Given the description of an element on the screen output the (x, y) to click on. 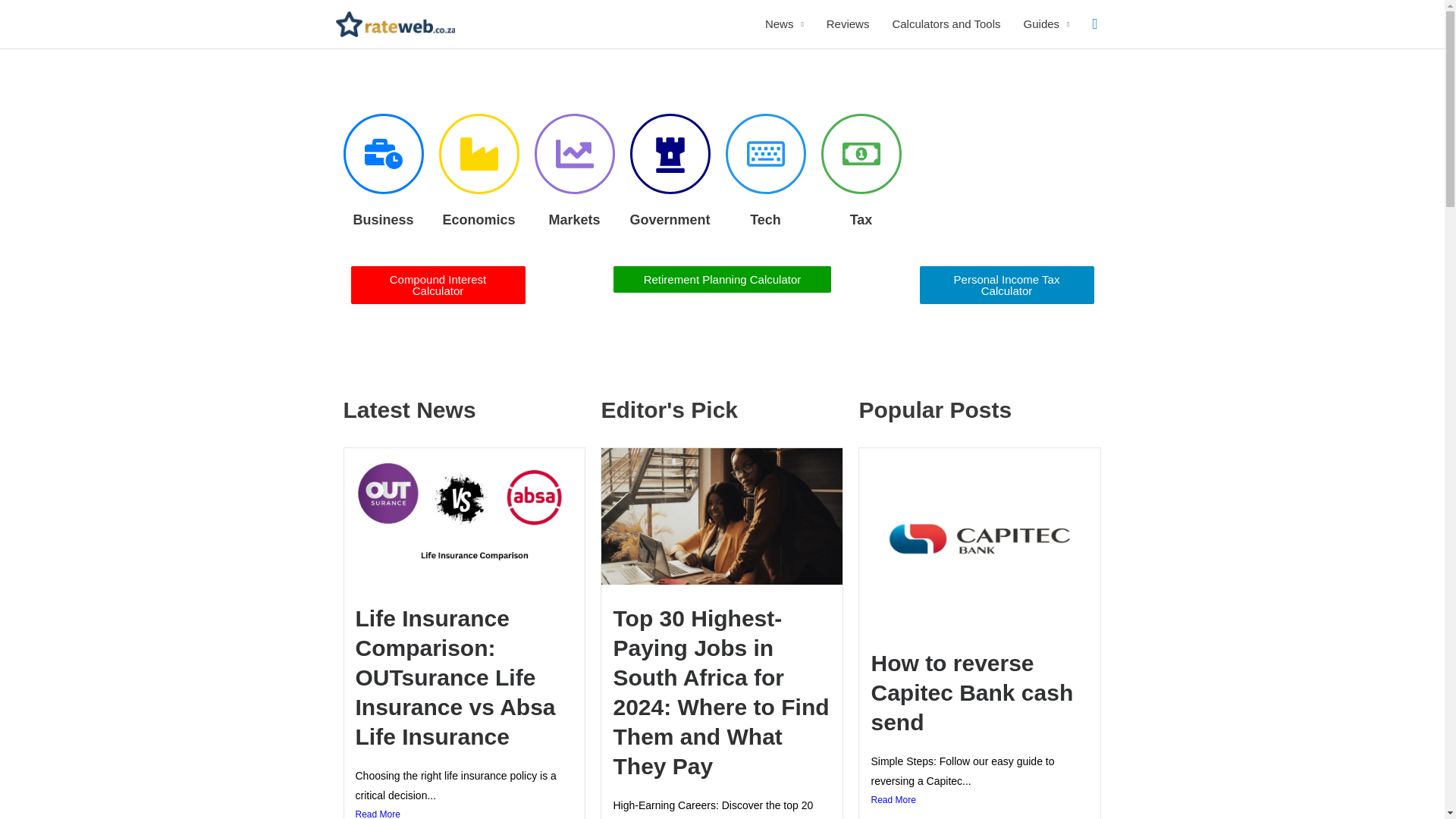
Calculators and Tools (945, 24)
Government (669, 219)
Personal Income Tax Calculator (1005, 284)
Guides (1046, 24)
Read More (464, 812)
Reviews (847, 24)
Business (382, 219)
Tax (861, 219)
